Given the description of an element on the screen output the (x, y) to click on. 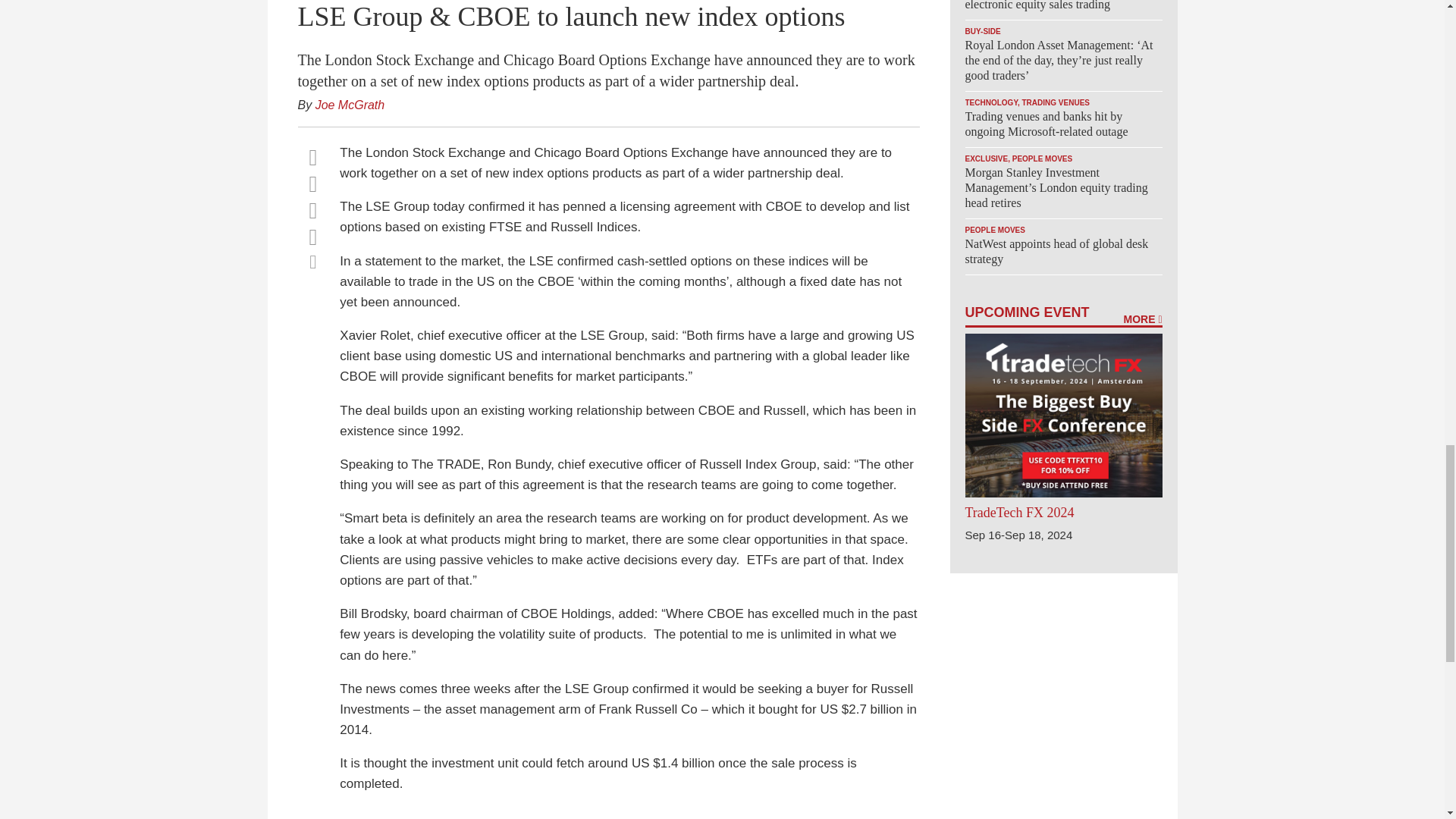
Print this article (311, 260)
Email this article (312, 236)
